Given the description of an element on the screen output the (x, y) to click on. 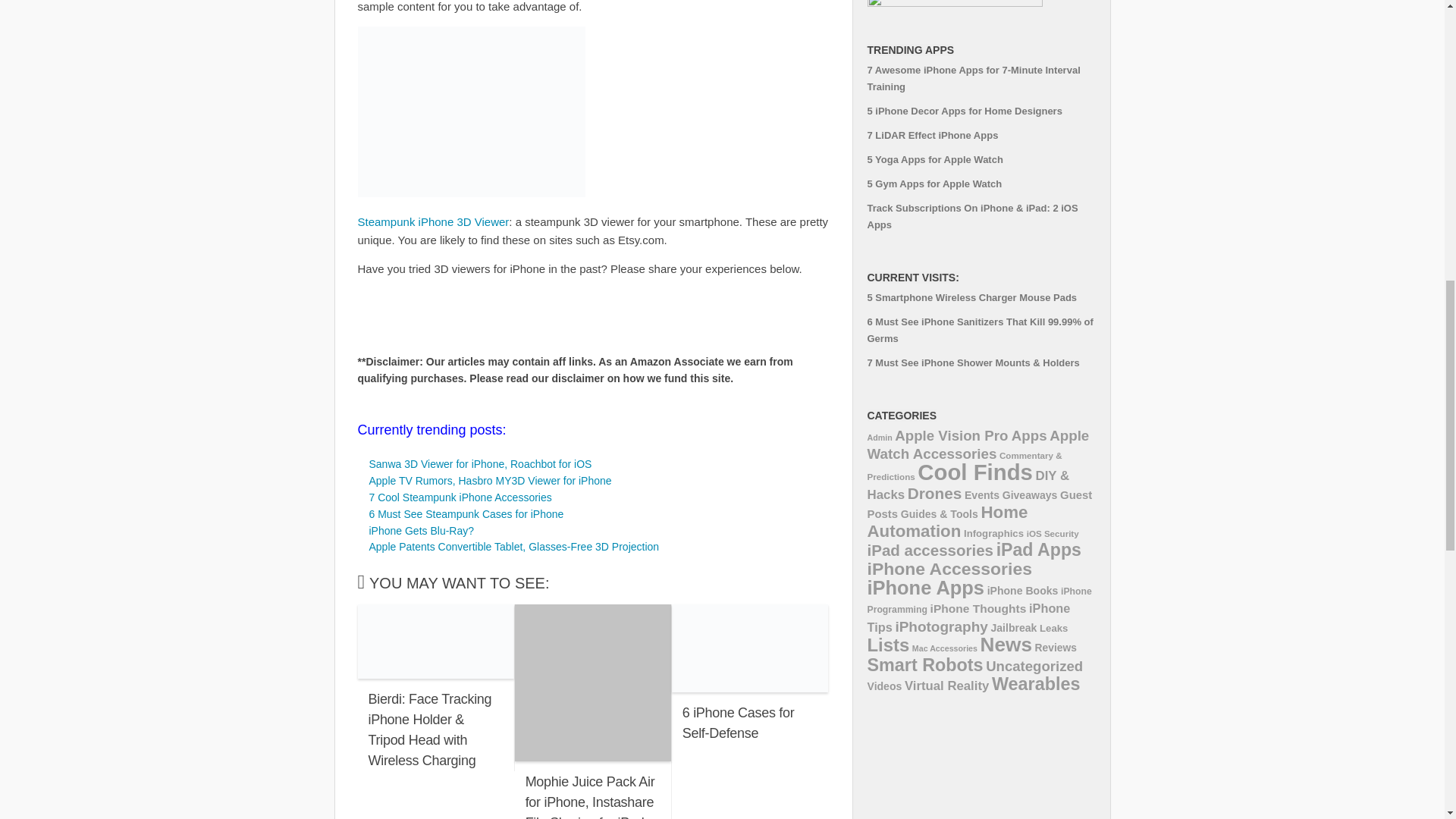
iPhone Gets Blu-Ray? (421, 530)
6 Must See Steampunk Cases for iPhone (465, 513)
Sanwa 3D Viewer for iPhone, Roachbot for iOS (479, 463)
Apple TV Rumors, Hasbro MY3D Viewer for iPhone (489, 480)
Apple Patents Convertible Tablet, Glasses-Free 3D Projection (513, 546)
7 Cool Steampunk iPhone Accessories (459, 497)
